Given the description of an element on the screen output the (x, y) to click on. 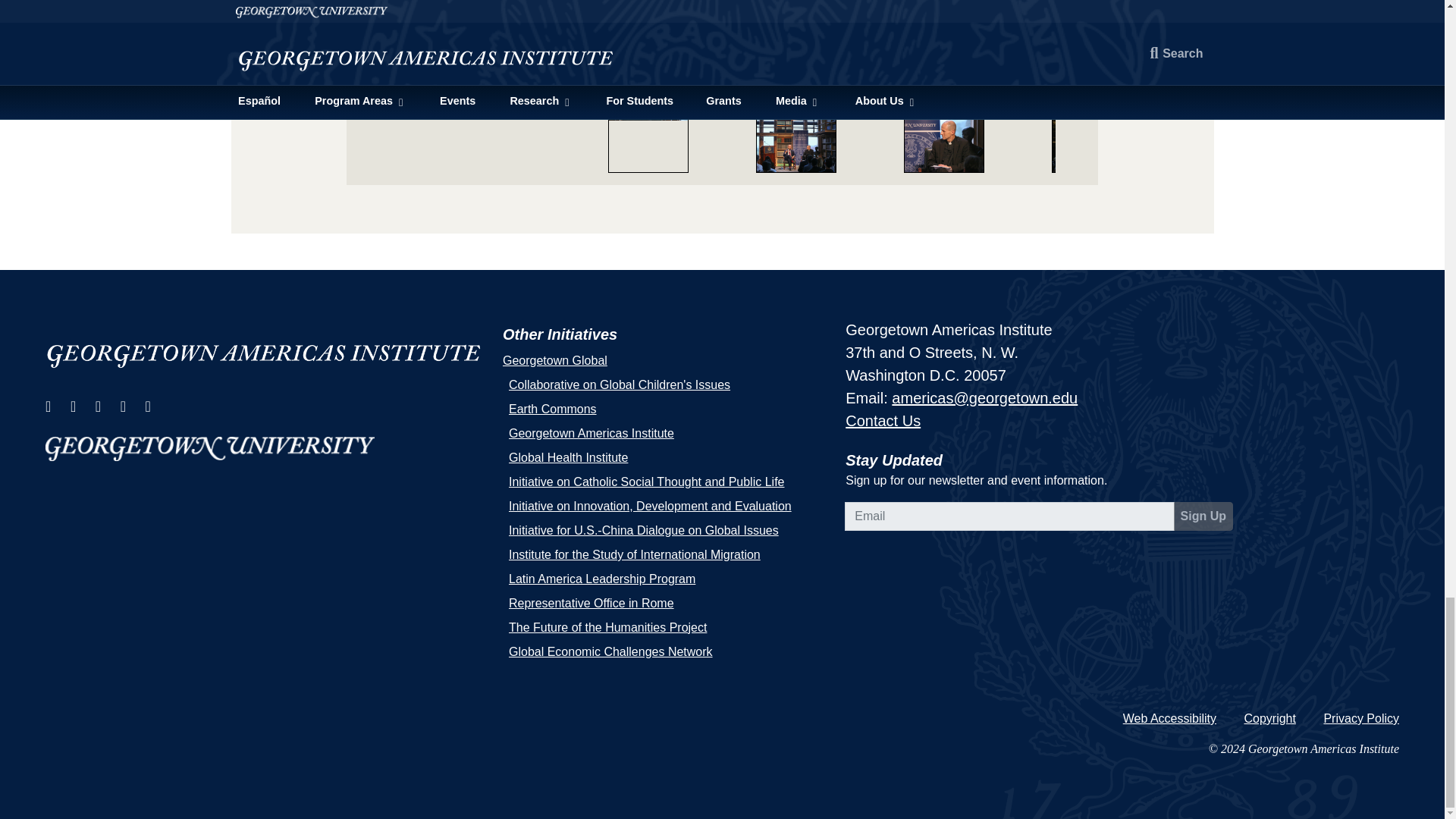
Georgetown Americas Institute (264, 349)
